Given the description of an element on the screen output the (x, y) to click on. 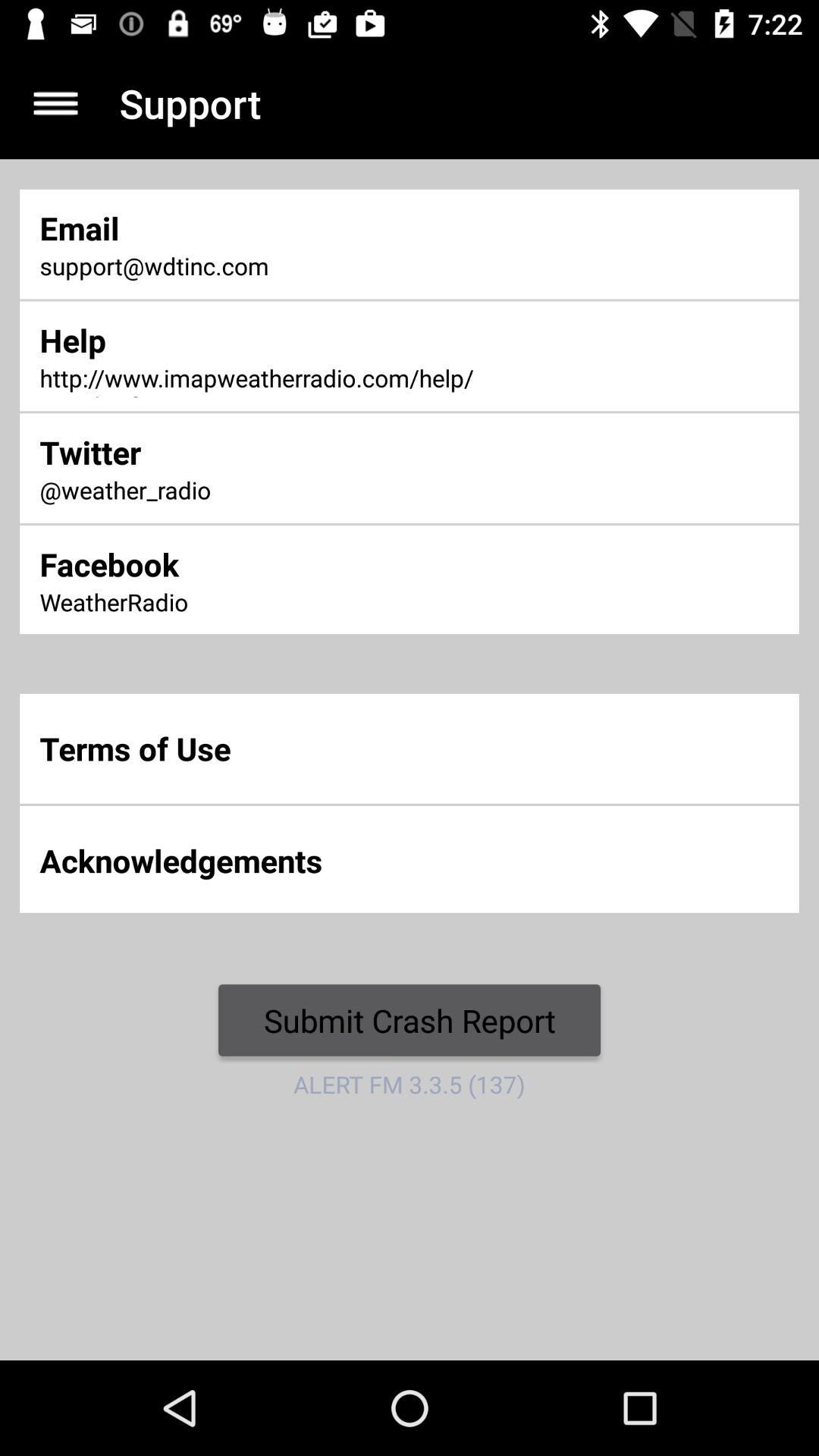
the menu option (55, 103)
